Given the description of an element on the screen output the (x, y) to click on. 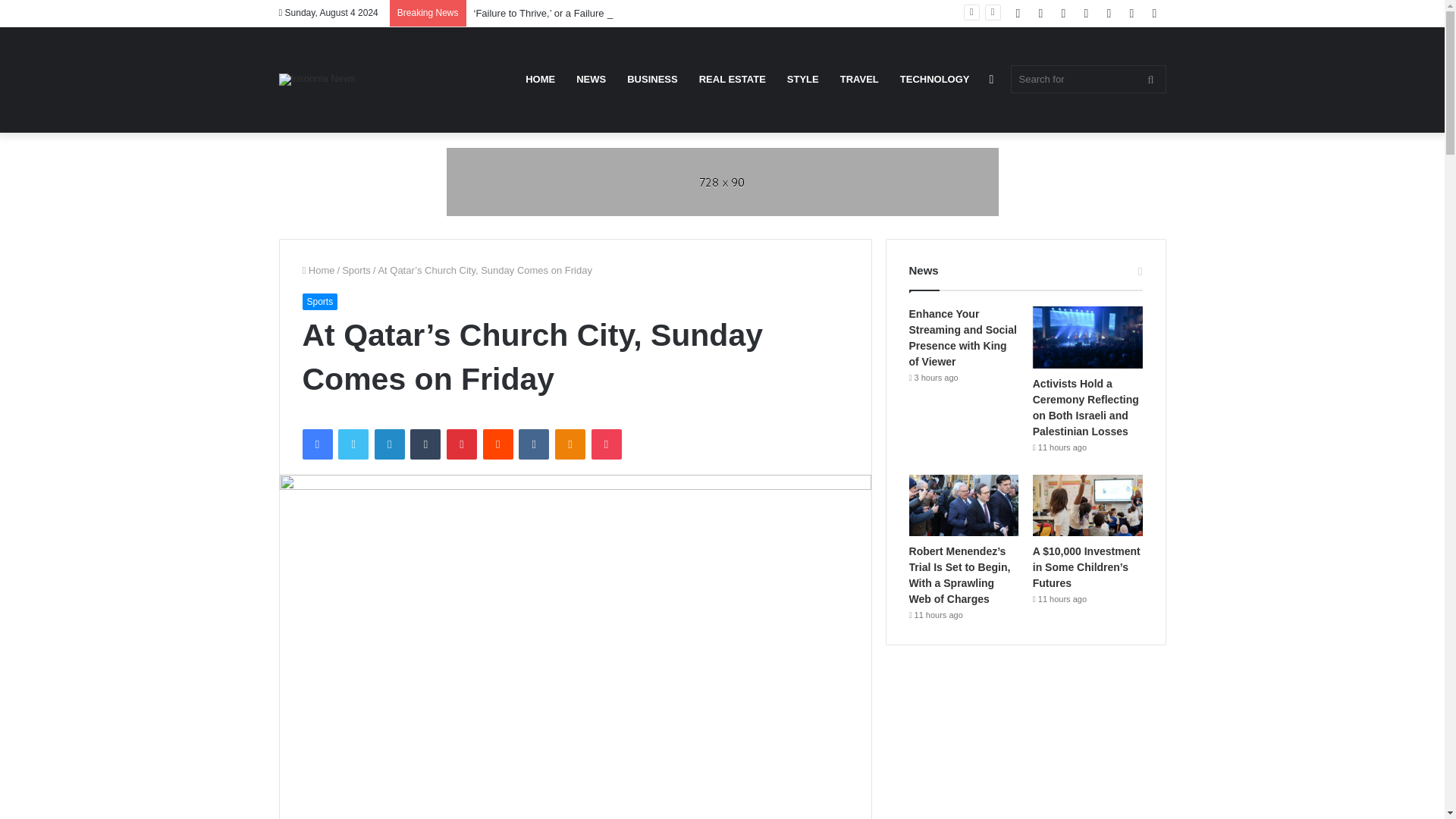
Sports (319, 301)
Insonnia News (317, 79)
VKontakte (533, 444)
Odnoklassniki (569, 444)
Reddit (498, 444)
Facebook (316, 444)
Pinterest (461, 444)
Pocket (606, 444)
Tumblr (425, 444)
Home (317, 270)
Facebook (316, 444)
Pocket (606, 444)
LinkedIn (389, 444)
LinkedIn (389, 444)
Sports (356, 270)
